Given the description of an element on the screen output the (x, y) to click on. 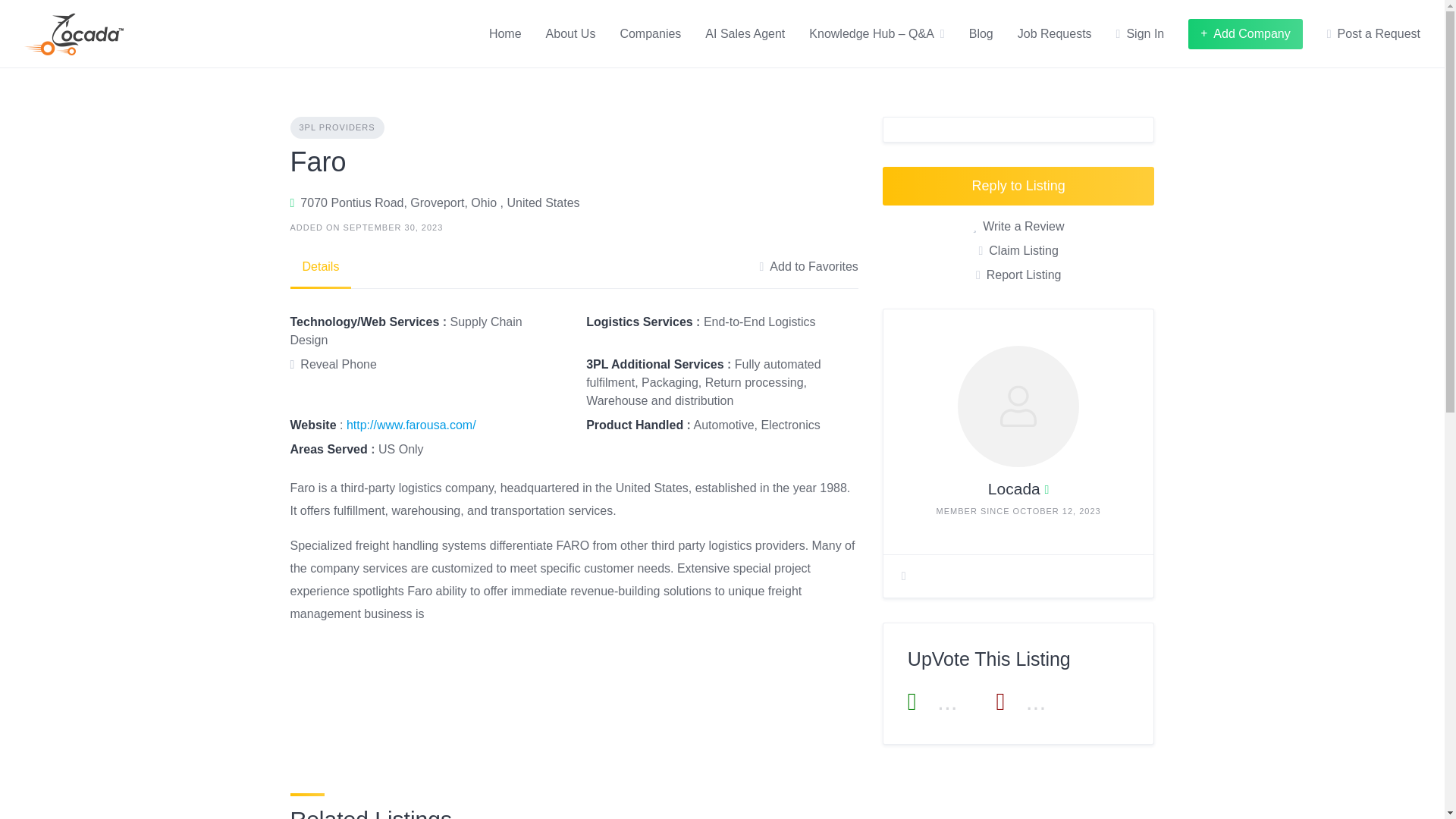
Sign In (1140, 33)
Reveal Phone (332, 364)
Post a Request (1373, 33)
Add Company (1245, 33)
7070 Pontius Road, Groveport, Ohio , United States (439, 203)
Job Requests (1054, 33)
Details (320, 266)
Report Listing (1018, 275)
Blog (980, 33)
Home (505, 33)
